Given the description of an element on the screen output the (x, y) to click on. 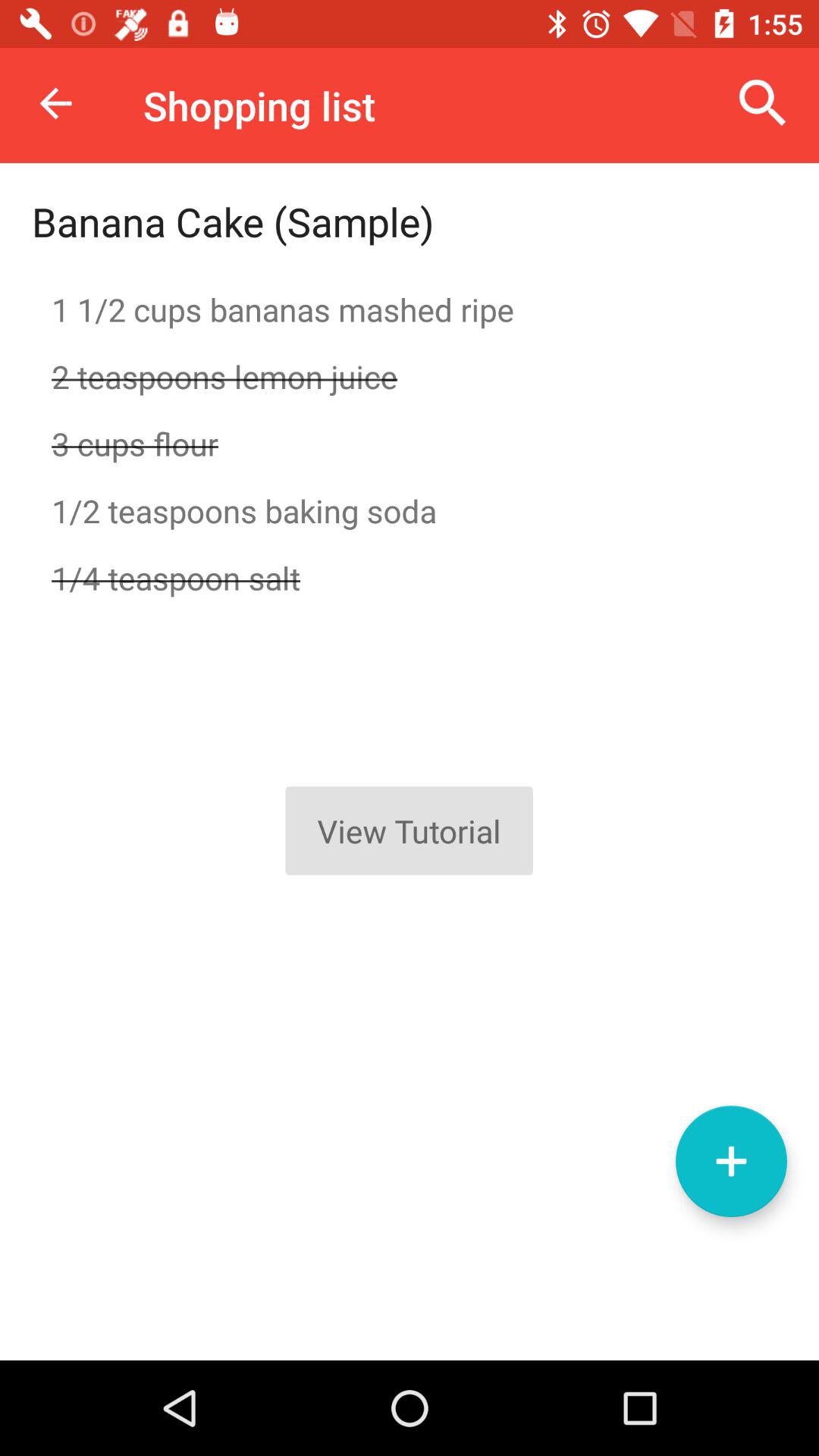
turn off the item next to shopping list icon (763, 103)
